Given the description of an element on the screen output the (x, y) to click on. 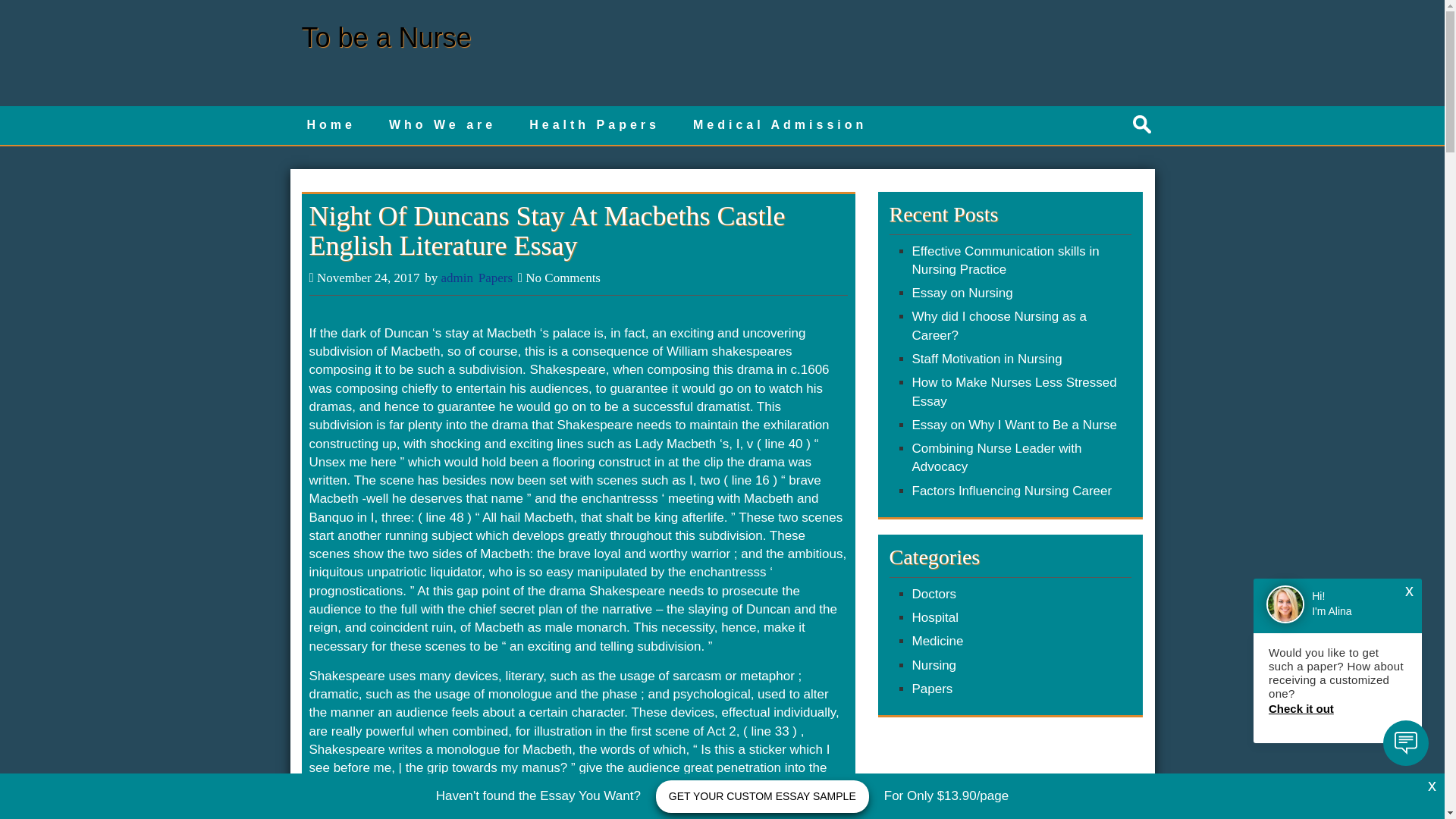
Medical Admission (780, 125)
Doctors (933, 594)
Medicine (936, 640)
GET YOUR CUSTOM ESSAY SAMPLE (762, 795)
How to Make Nurses Less Stressed Essay (1013, 391)
Who We are (442, 125)
admin (457, 278)
Papers (495, 278)
Essay on Nursing (961, 292)
